Given the description of an element on the screen output the (x, y) to click on. 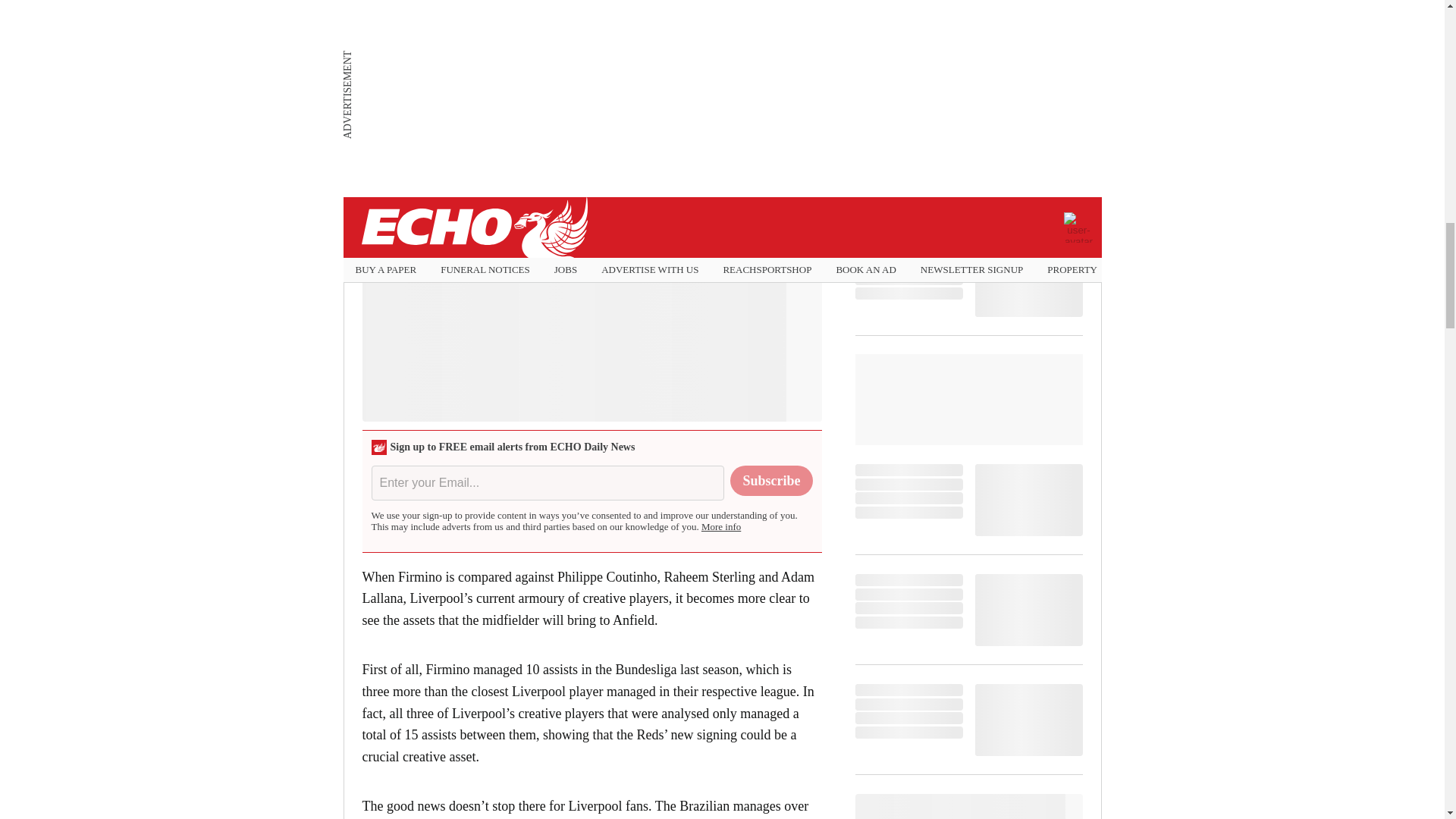
Subscribe (771, 481)
More info (721, 526)
